Given the description of an element on the screen output the (x, y) to click on. 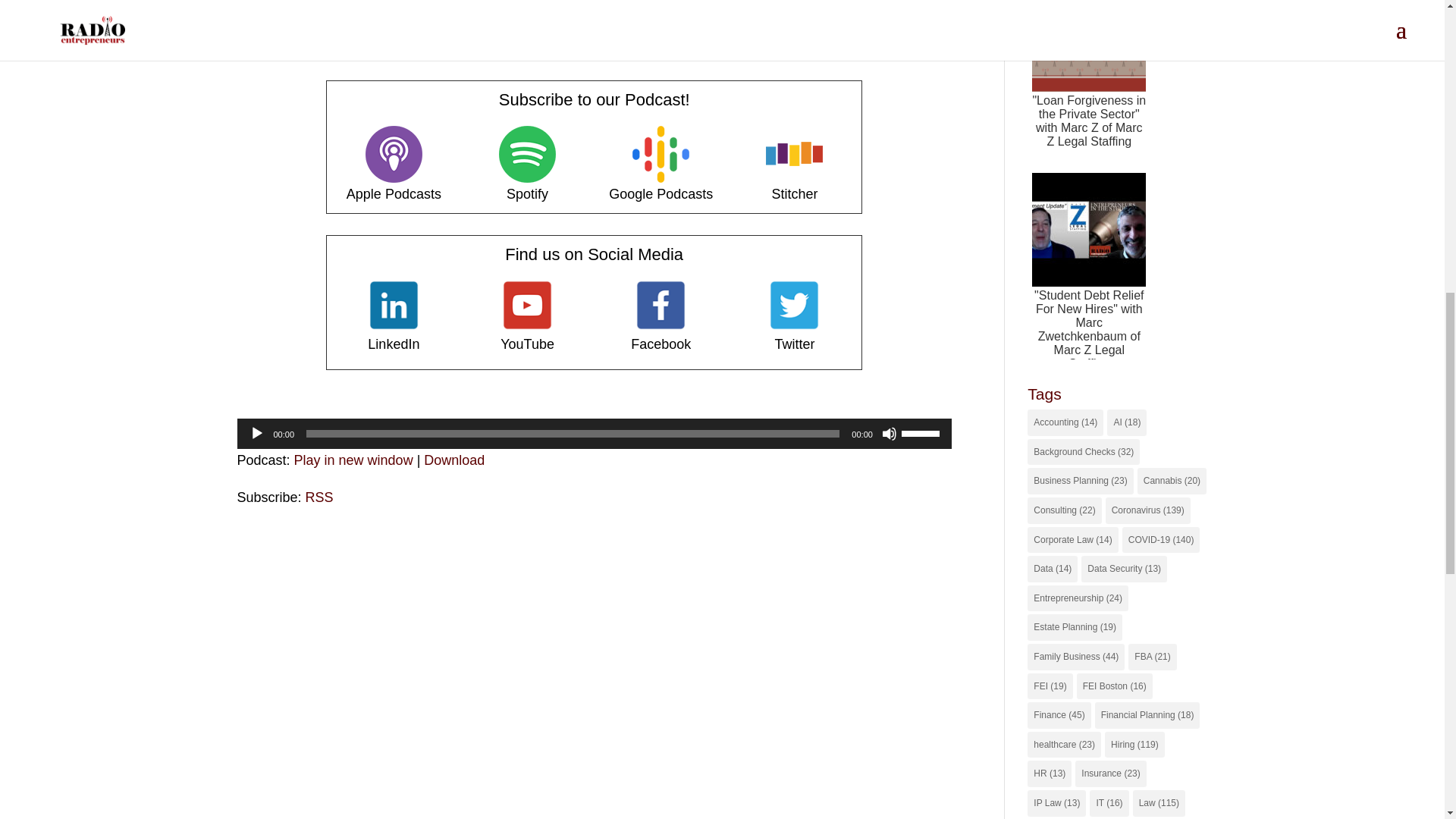
Twitter-icon-75 (794, 305)
Google-podcast-icon-75 (659, 154)
Play in new window (353, 459)
Play in new window (353, 459)
apple-podcast-icon-75 (393, 154)
Mute (889, 433)
Download (453, 459)
stitcher-icon-75 (793, 154)
RSS (319, 497)
Subscribe via RSS (319, 497)
